Given the description of an element on the screen output the (x, y) to click on. 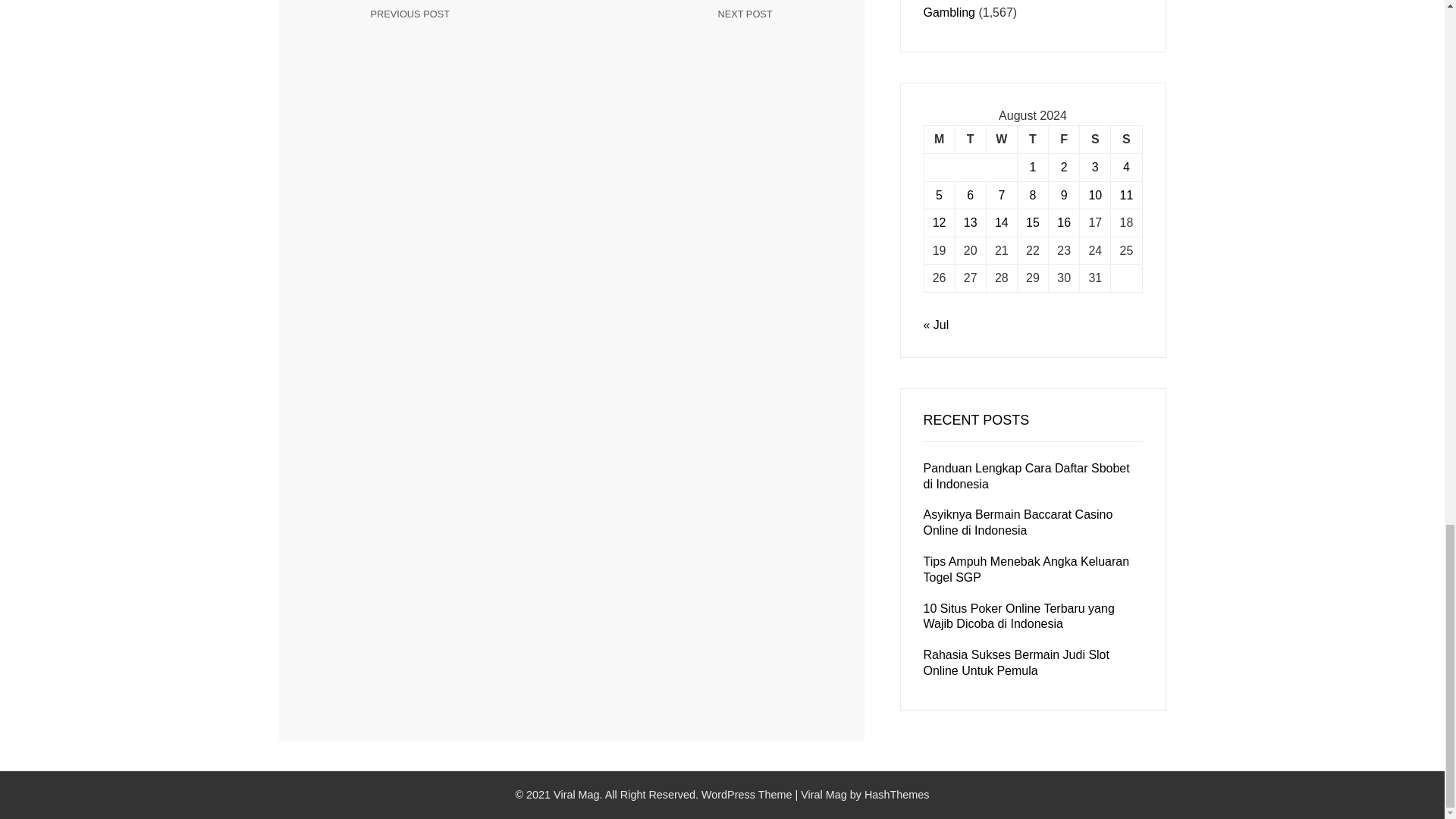
Saturday (462, 25)
Sunday (680, 25)
Monday (1095, 139)
Download Viral News (1125, 139)
Friday (939, 139)
Thursday (823, 794)
Wednesday (1064, 139)
Tuesday (1032, 139)
